Given the description of an element on the screen output the (x, y) to click on. 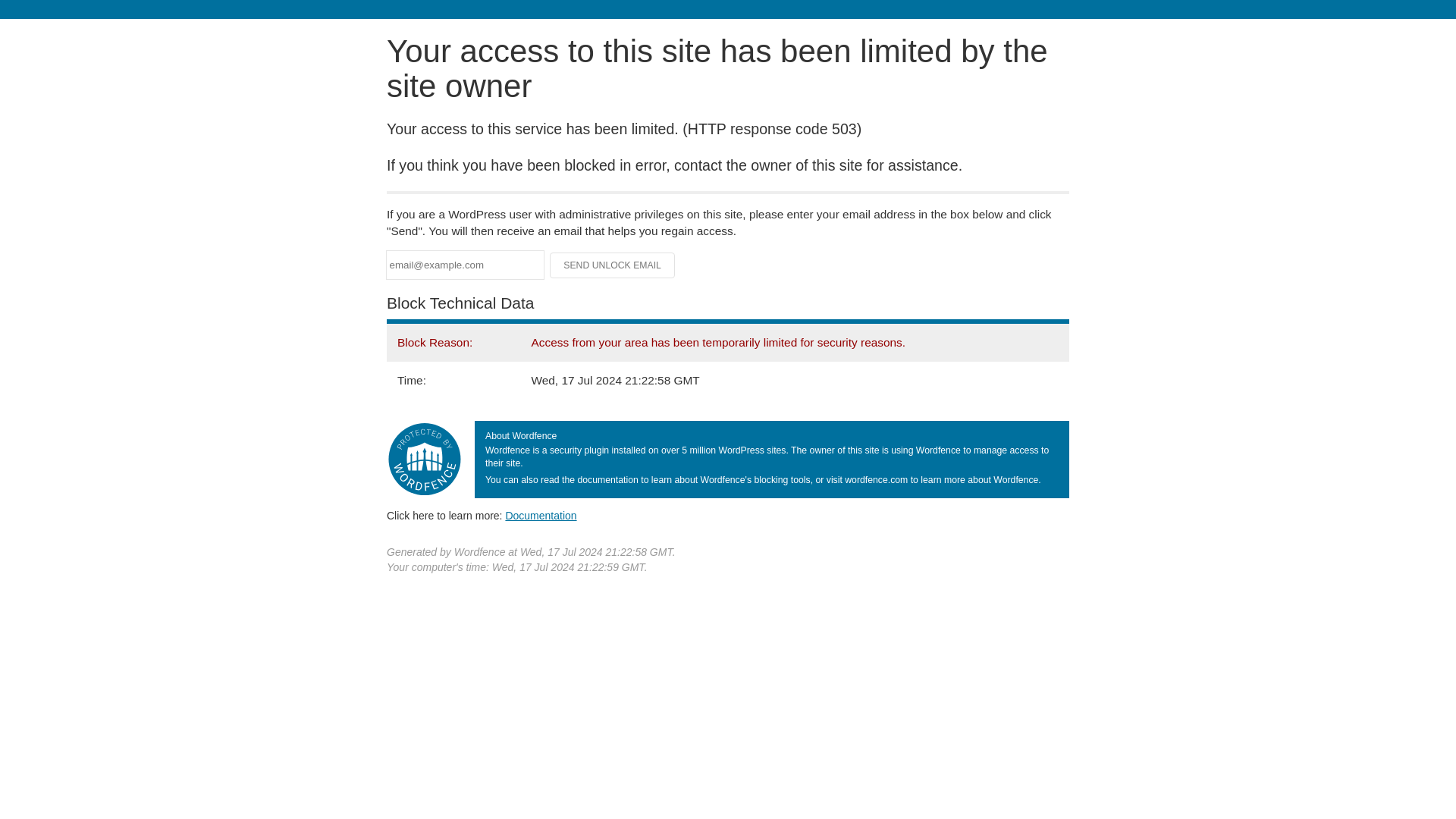
Documentation (540, 515)
Send Unlock Email (612, 265)
Send Unlock Email (612, 265)
